Given the description of an element on the screen output the (x, y) to click on. 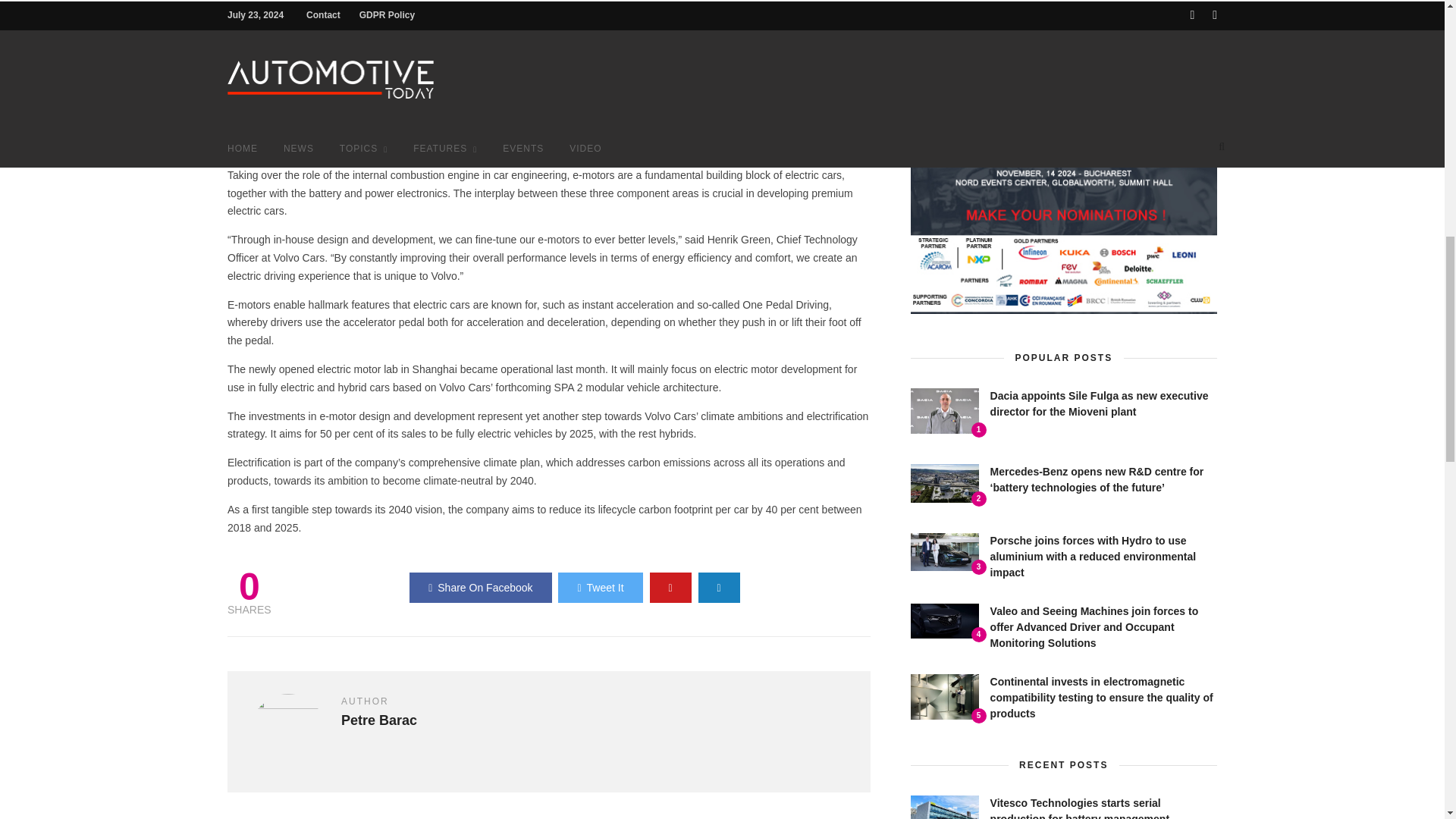
Share On Pinterest (670, 587)
Share by Email (718, 587)
Share On Facebook (480, 587)
Share On Twitter (599, 587)
